Given the description of an element on the screen output the (x, y) to click on. 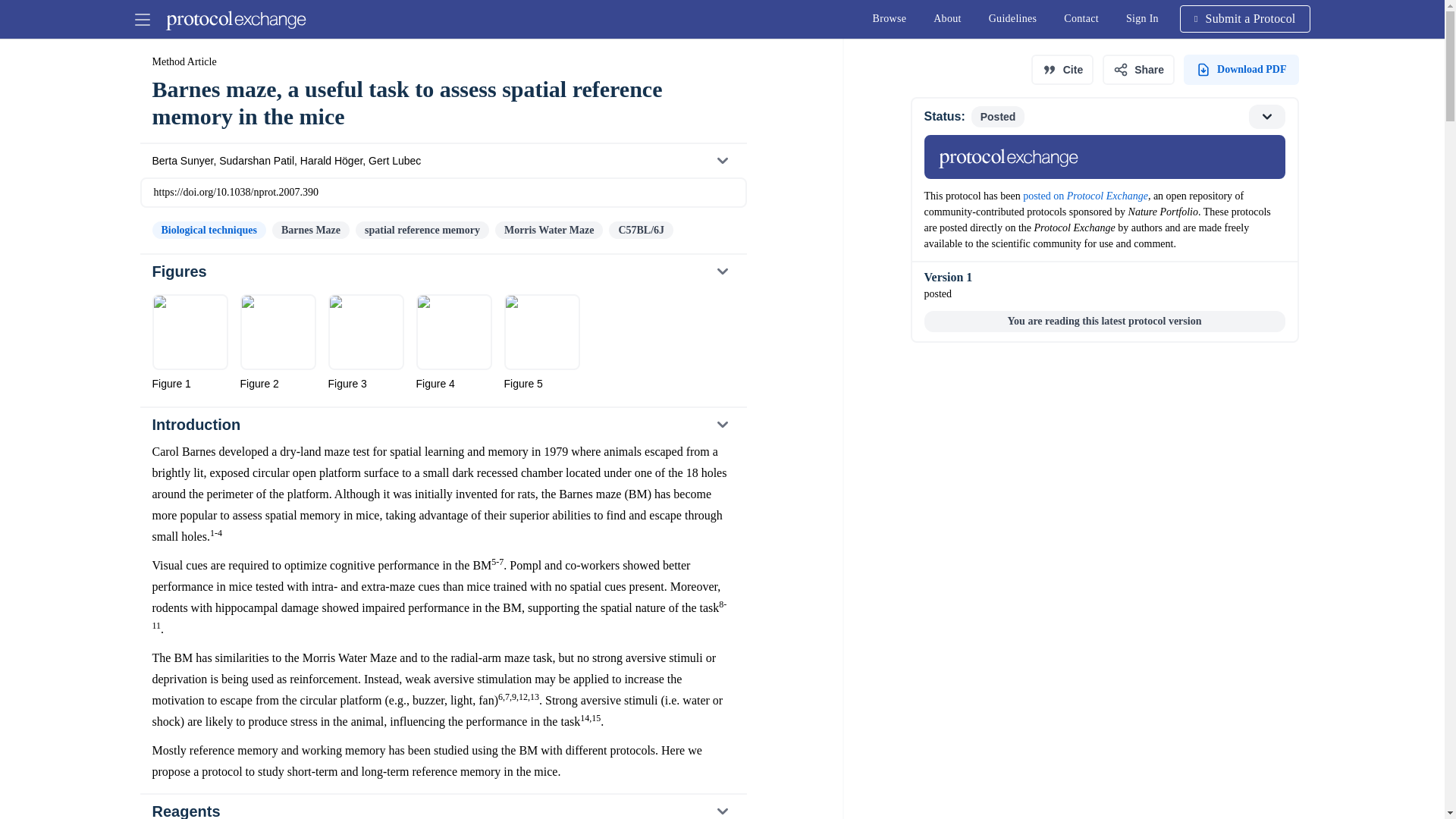
Share (1138, 69)
Guidelines (1013, 18)
Biological techniques (207, 230)
Cite (1061, 69)
posted on Protocol Exchange (1085, 195)
About (947, 18)
PDF (1240, 69)
Introduction (442, 424)
Reagents (442, 806)
Contact (1080, 18)
Browse (889, 18)
Sign In (1103, 143)
Figures (1142, 18)
Submit a Protocol (442, 271)
